Given the description of an element on the screen output the (x, y) to click on. 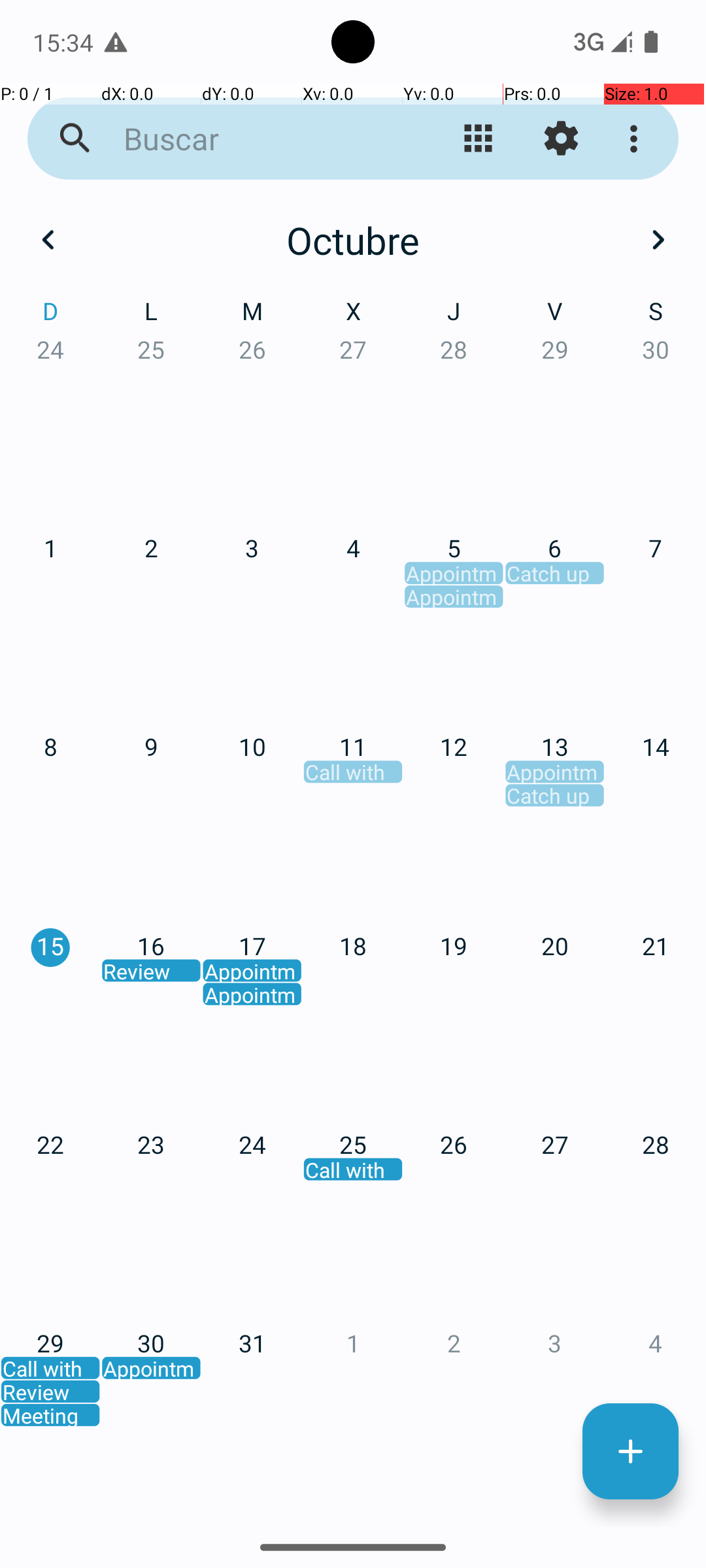
Buscar Element type: android.widget.EditText (252, 138)
Cambiar vista Element type: android.widget.Button (477, 138)
Ajustes Element type: android.widget.Button (560, 138)
Más opciones Element type: android.widget.ImageView (636, 138)
Nuevo evento Element type: android.widget.ImageButton (630, 1451)
Octubre Element type: android.widget.TextView (352, 239)
